Given the description of an element on the screen output the (x, y) to click on. 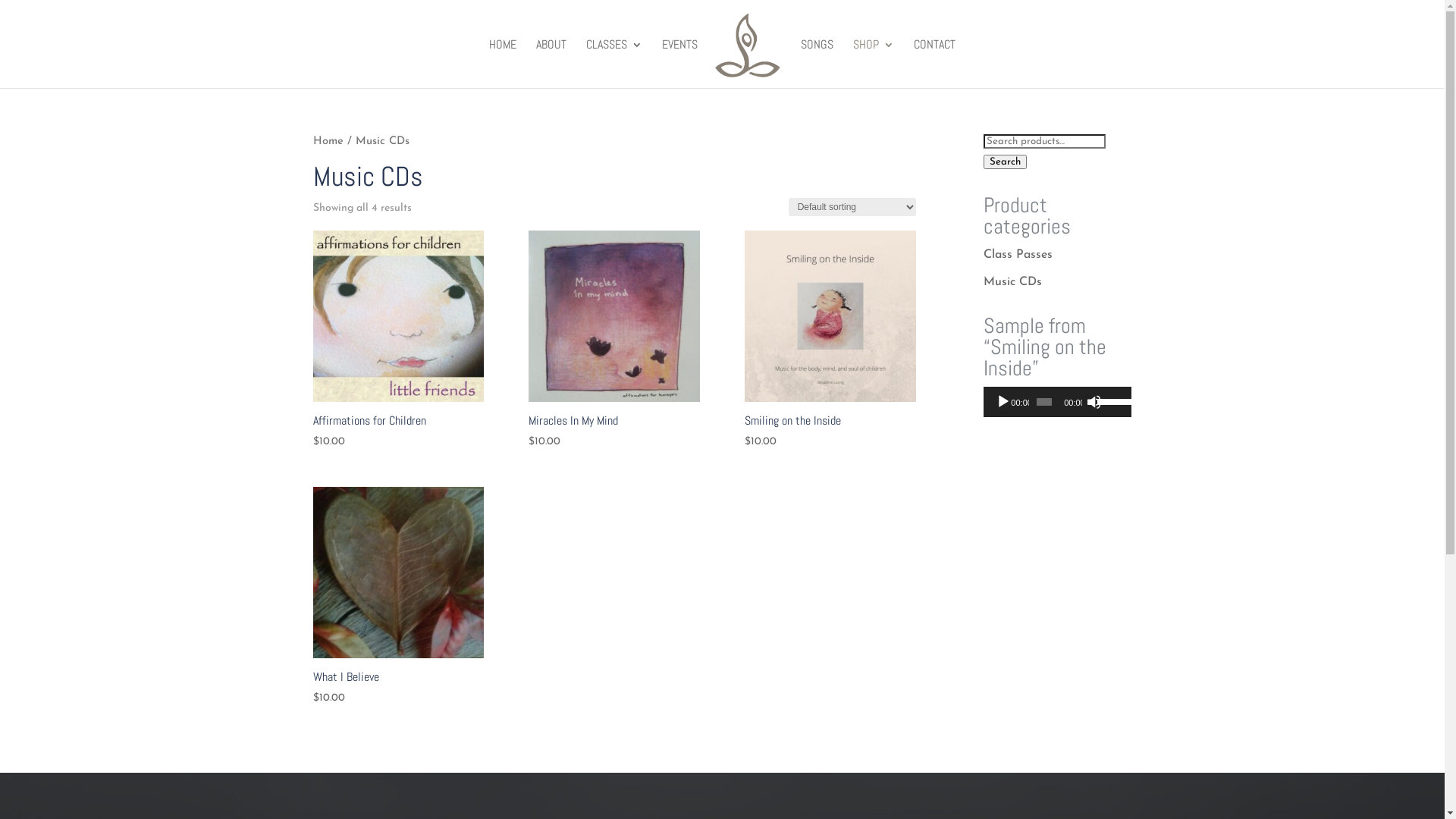
Class Passes Element type: text (1017, 254)
Music CDs Element type: text (1012, 282)
Search Element type: text (1004, 161)
Use Up/Down Arrow keys to increase or decrease volume. Element type: text (1110, 400)
Play Element type: hover (1002, 401)
SONGS Element type: text (816, 63)
Miracles In My Mind
$10.00 Element type: text (613, 340)
CLASSES Element type: text (614, 63)
Home Element type: text (327, 141)
Smiling on the Inside
$10.00 Element type: text (829, 340)
What I Believe
$10.00 Element type: text (397, 596)
Mute Element type: hover (1093, 401)
HOME Element type: text (502, 63)
ABOUT Element type: text (551, 63)
Affirmations for Children
$10.00 Element type: text (397, 340)
EVENTS Element type: text (679, 63)
CONTACT Element type: text (934, 63)
SHOP Element type: text (873, 63)
